Given the description of an element on the screen output the (x, y) to click on. 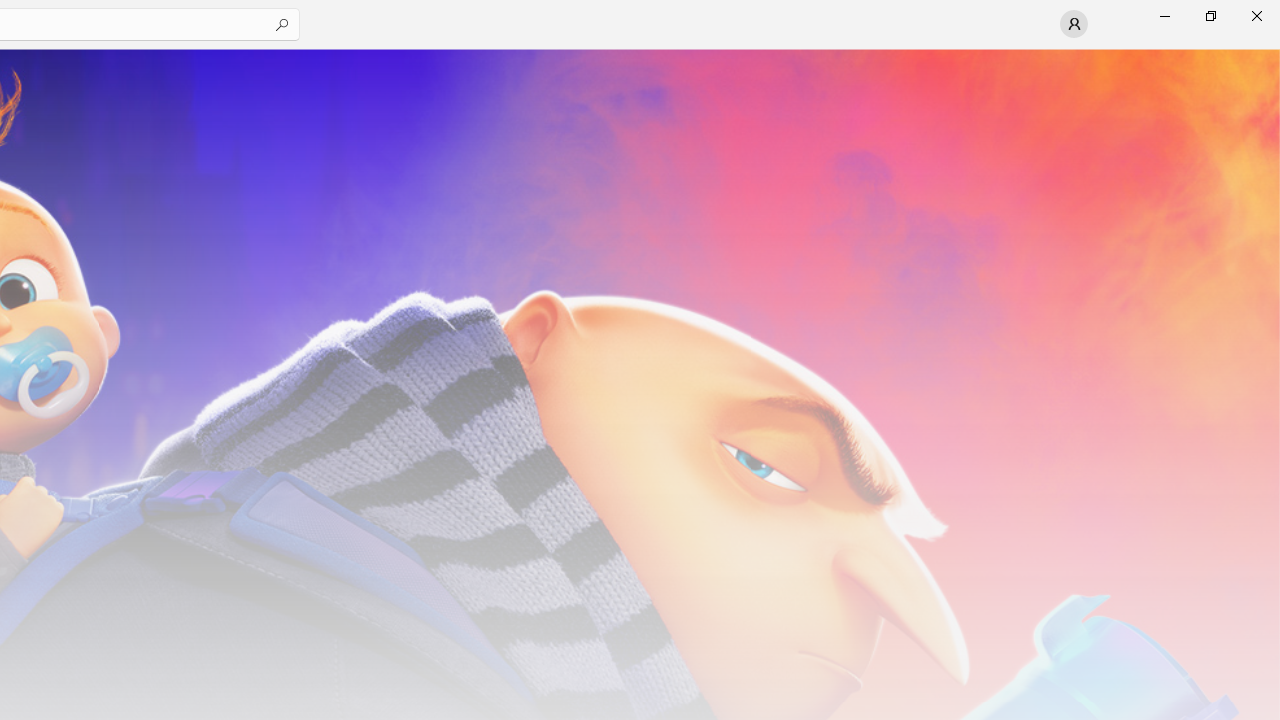
Close Microsoft Store (1256, 15)
Minimize Microsoft Store (1164, 15)
Restore Microsoft Store (1210, 15)
User profile (1073, 24)
